Given the description of an element on the screen output the (x, y) to click on. 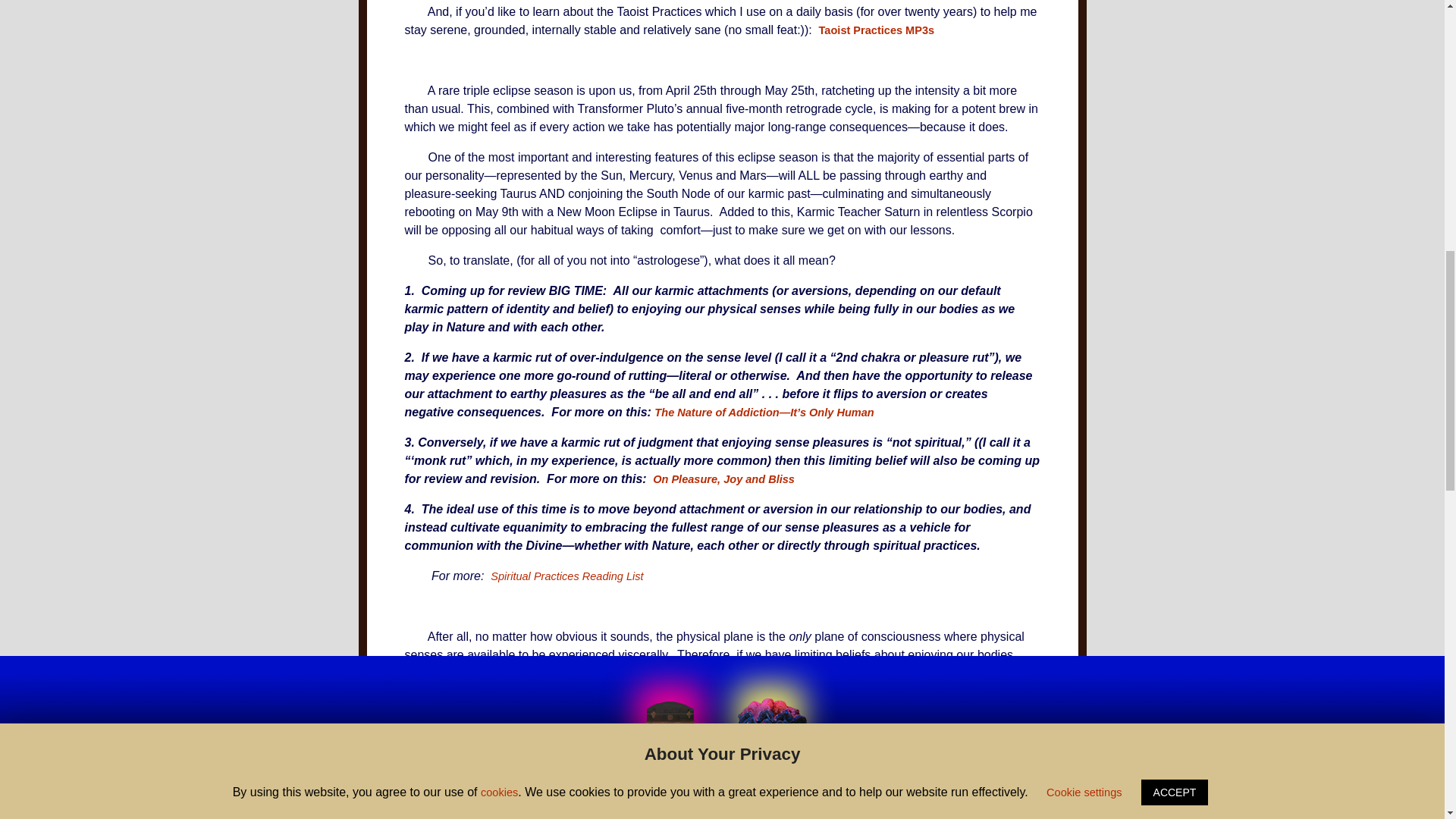
On Pleasure, Joy and Bliss (723, 479)
If This were your Last Incarnation . . . What Would You Do? (675, 721)
Spiritual Practices Reading List (566, 576)
Taoist Practices MP3s  (877, 30)
